Given the description of an element on the screen output the (x, y) to click on. 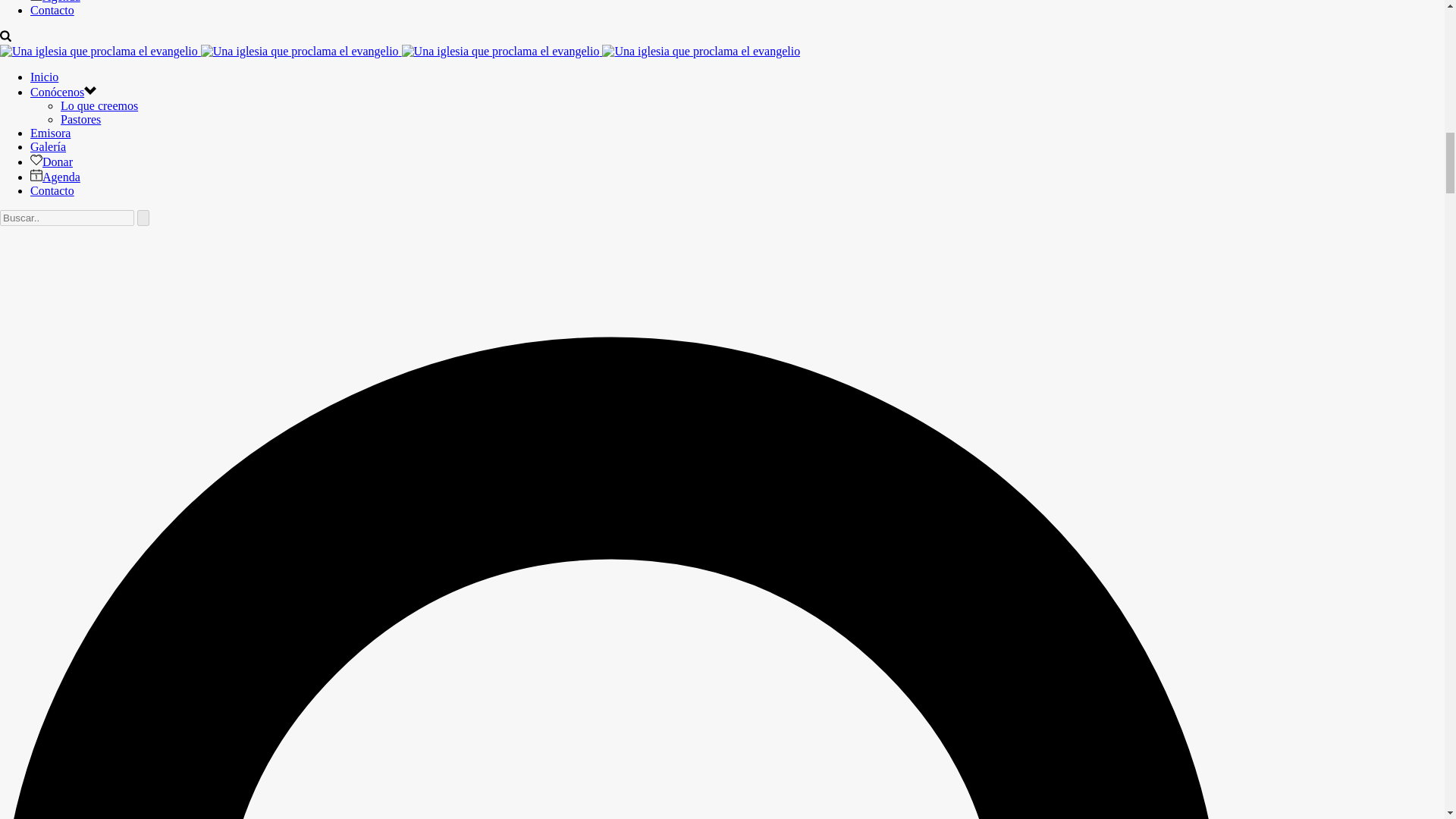
Una iglesia que proclama el evangelio (299, 51)
Santidad al Rey Eterno (399, 51)
Contacto (52, 10)
Pastores (80, 119)
Donar (51, 161)
Pastores (80, 119)
Donar (51, 161)
Una iglesia que proclama el evangelio (99, 51)
Una iglesia que proclama el evangelio (700, 51)
Una iglesia que proclama el evangelio (500, 51)
Contacto (52, 10)
Lo que creemos (99, 105)
Contacto (52, 190)
Contacto (52, 190)
Emisora (49, 132)
